Given the description of an element on the screen output the (x, y) to click on. 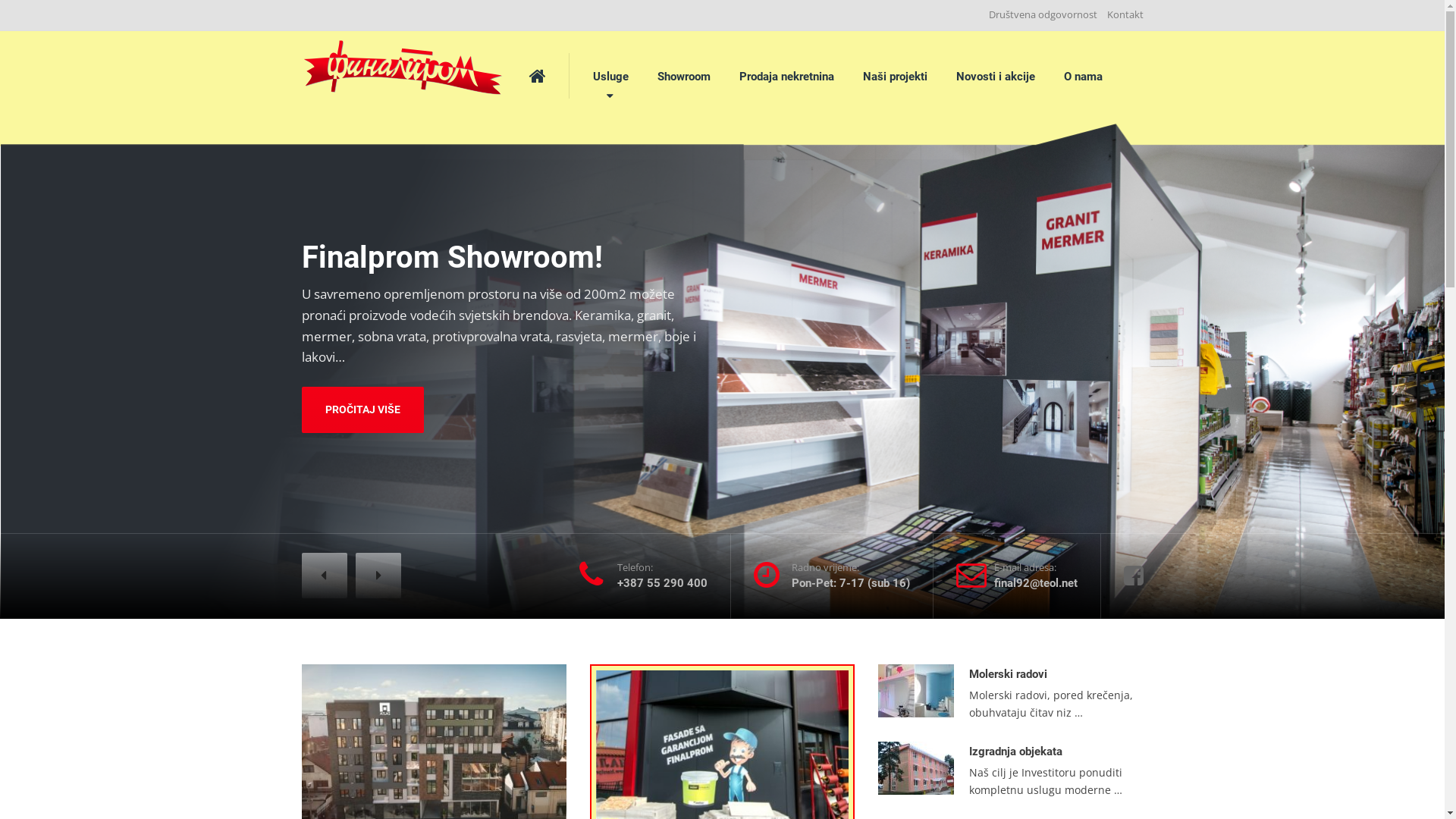
Izgradnja objekata Element type: text (1015, 267)
Renoviranje i sanacija Element type: text (1024, 422)
Prodaja nekretnina Element type: text (786, 76)
POGLEDAJ NEKRETNINE Element type: text (365, 512)
Akcije i popusti Element type: text (647, 380)
Kontakt Element type: text (1122, 15)
Novosti i akcije Element type: text (995, 76)
Prodaja nekretnina Element type: text (365, 382)
Molerski radovi Element type: text (1008, 190)
Usluge Element type: text (609, 76)
Energetski sertifikat za zgradu
6. oktobra 2017. Element type: text (1010, 600)
O nama Element type: text (1083, 76)
Otvoren novi Showroom!
24. maja 2016. Element type: text (1010, 757)
Suva gradnja Element type: text (1002, 344)
Showroom Element type: text (683, 76)
